Given the description of an element on the screen output the (x, y) to click on. 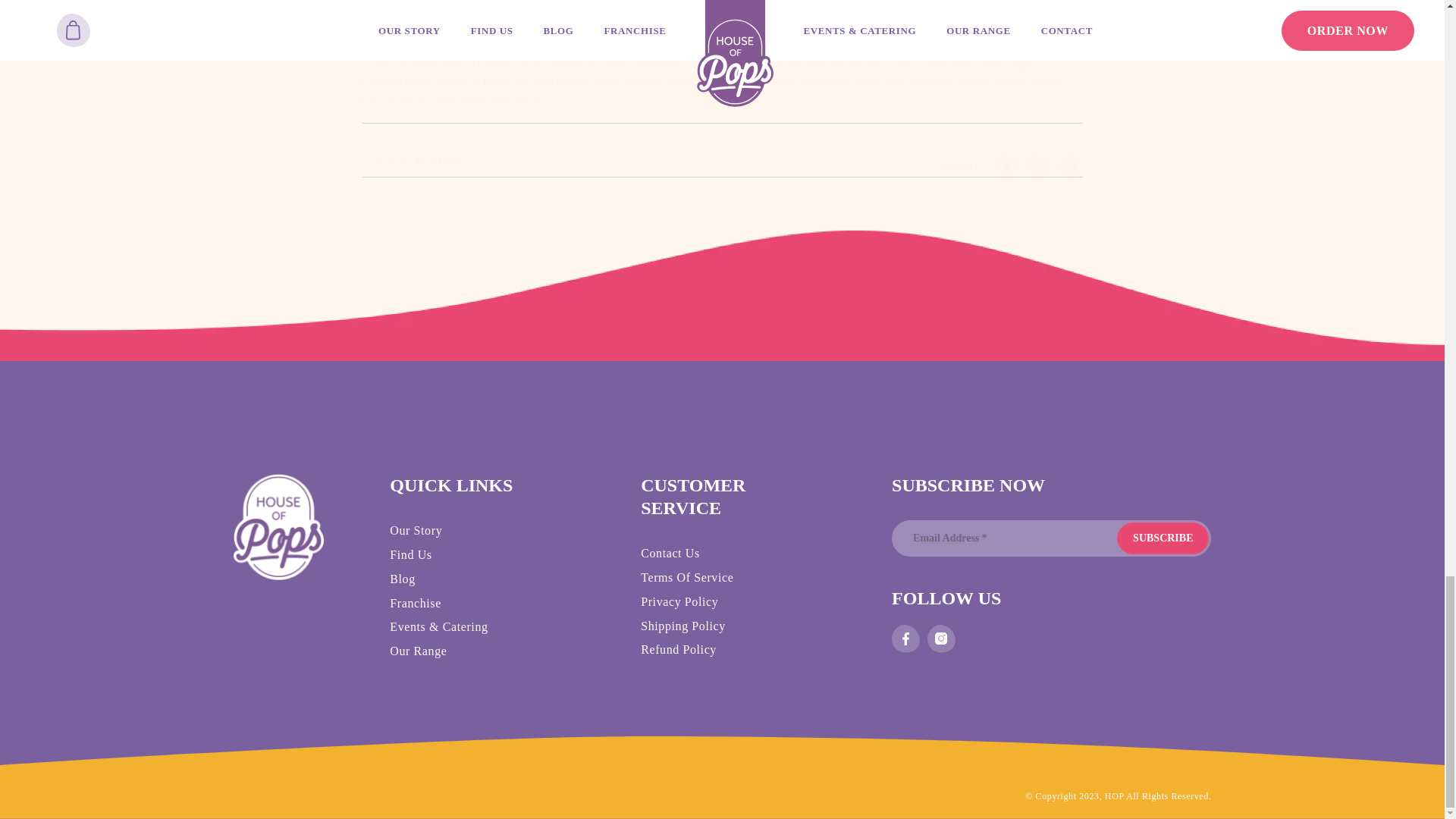
BACK TO BLOG (415, 163)
our store (763, 26)
our store (763, 26)
BACK TO BLOG (415, 165)
Our Story (1037, 165)
